Given the description of an element on the screen output the (x, y) to click on. 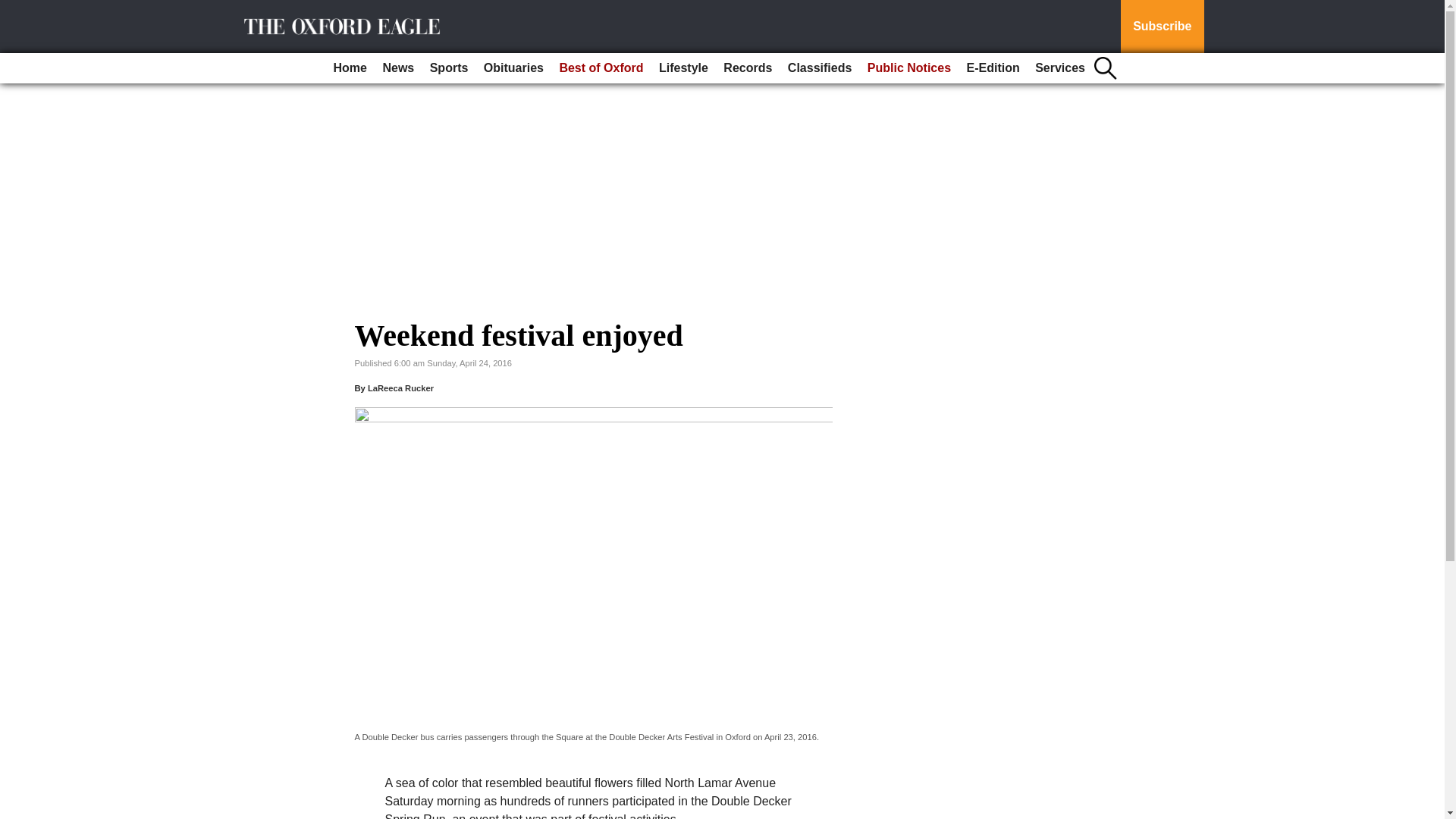
Home (349, 68)
Classifieds (819, 68)
Best of Oxford (601, 68)
Go (13, 9)
Obituaries (513, 68)
LaReeca Rucker (400, 388)
Records (747, 68)
E-Edition (992, 68)
Subscribe (1162, 26)
News (397, 68)
